Given the description of an element on the screen output the (x, y) to click on. 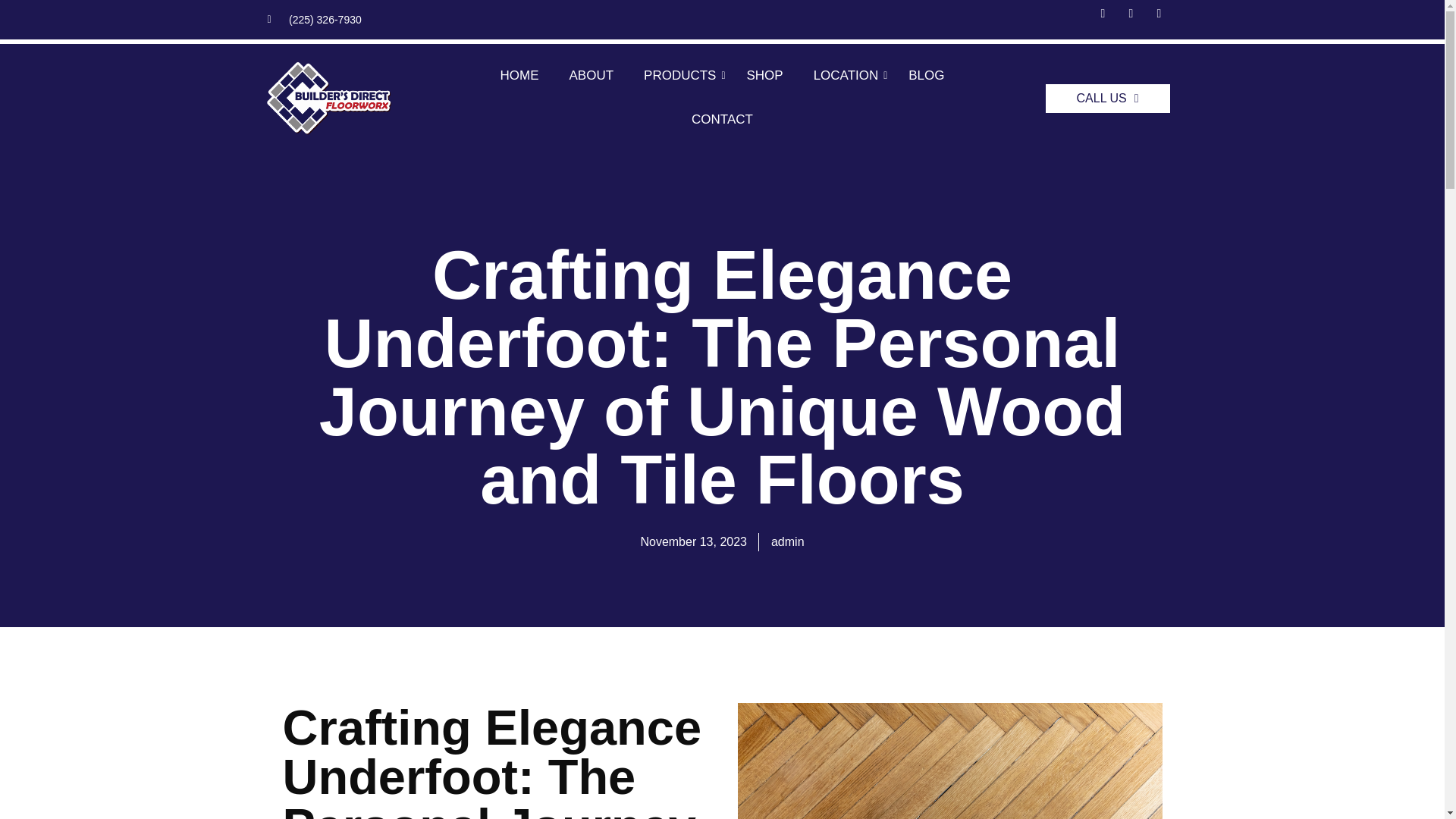
LOCATION (846, 76)
PRODUCTS (679, 76)
ABOUT (590, 76)
HOME (519, 76)
CONTACT (722, 120)
SHOP (764, 76)
BLOG (926, 76)
